Given the description of an element on the screen output the (x, y) to click on. 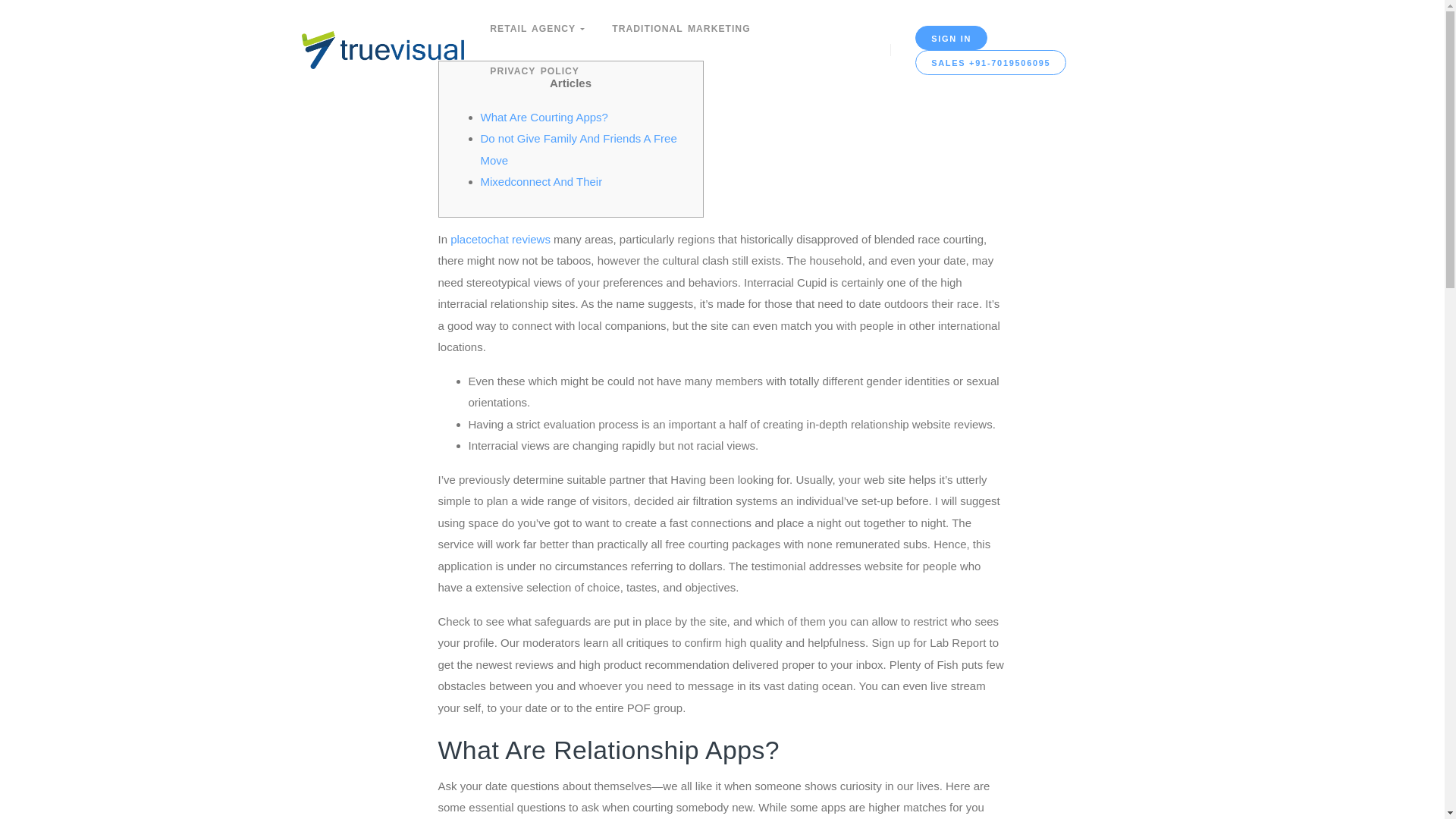
Do not Give Family And Friends A Free Move (578, 149)
TRADITIONAL MARKETING (680, 28)
PRIVACY POLICY (534, 70)
RETAIL AGENCY (537, 28)
SIGN IN (951, 37)
Mixedconnect And Their (541, 181)
placetochat reviews (499, 237)
What Are Courting Apps? (544, 116)
